Given the description of an element on the screen output the (x, y) to click on. 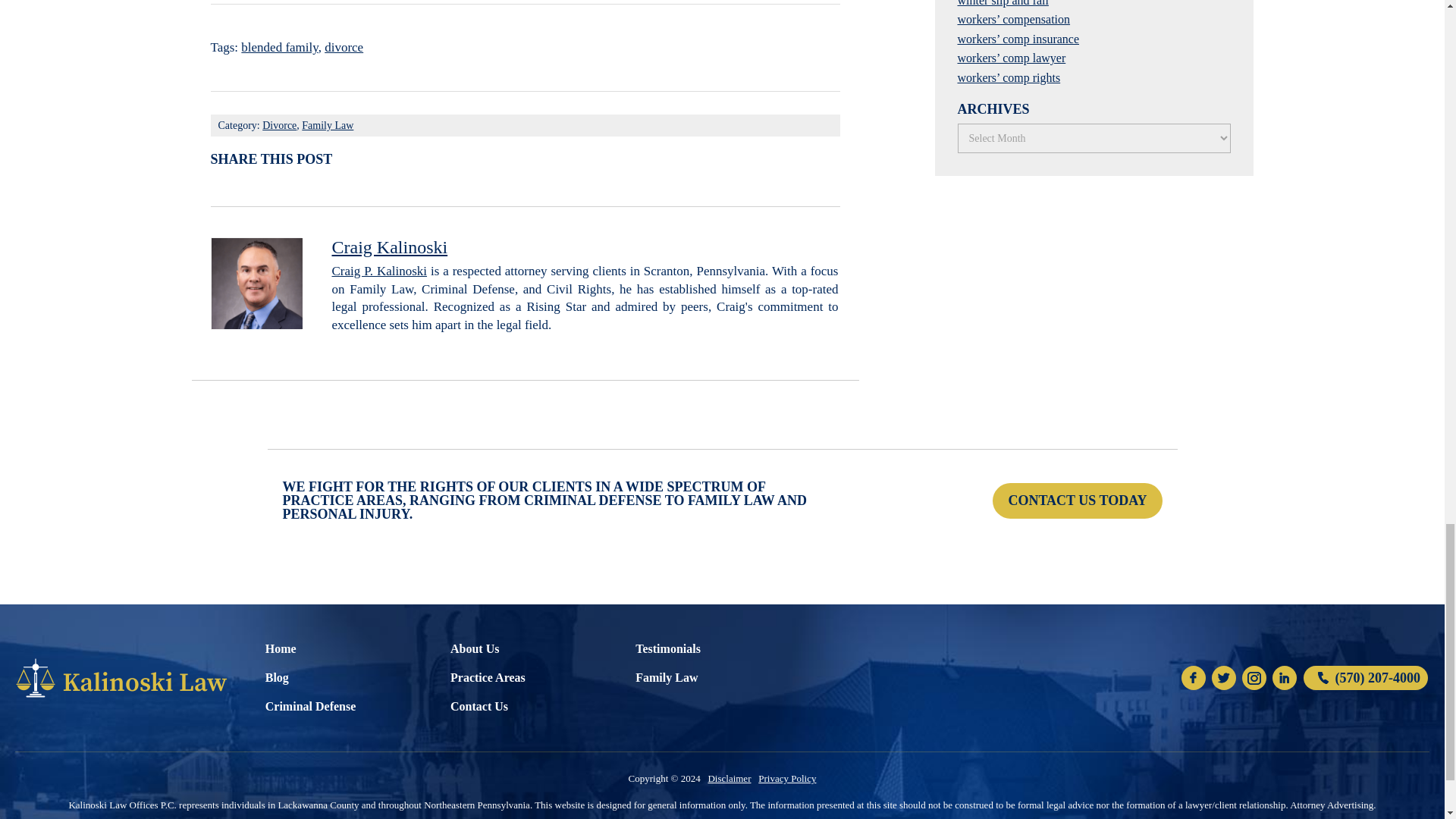
Craig Kalinoski (389, 247)
Family Law (327, 125)
Craig P. Kalinoski (379, 270)
Divorce (279, 125)
blended family (279, 47)
divorce (343, 47)
Craig Kalinoski (389, 247)
